Given the description of an element on the screen output the (x, y) to click on. 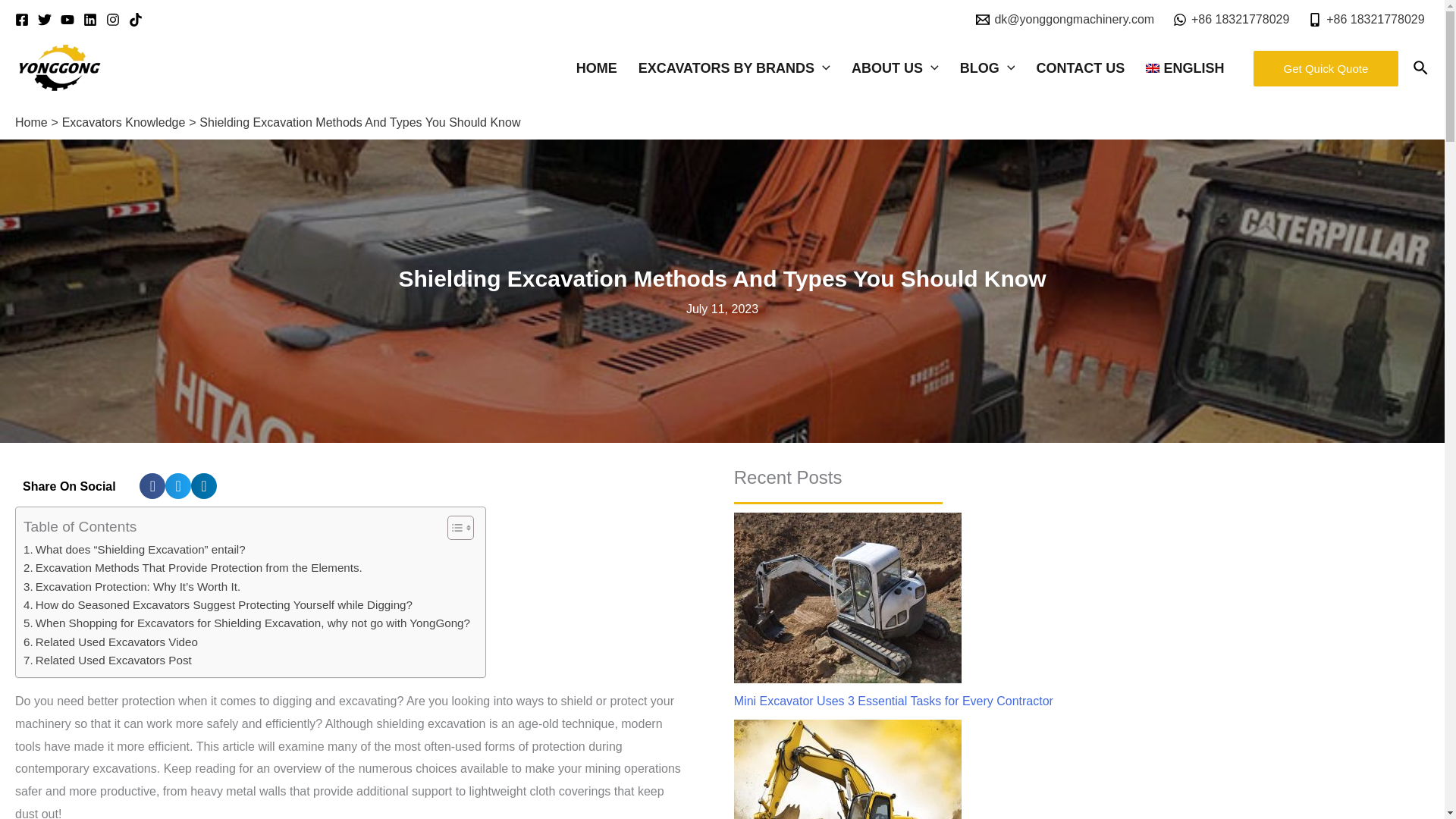
Get Quick Quote (1326, 68)
Related Used Excavators Video (110, 642)
BLOG (990, 67)
ABOUT US (898, 67)
EXCAVATORS BY BRANDS (737, 67)
English (1187, 67)
HOME (599, 67)
Related Used Excavators Post (107, 660)
